Given the description of an element on the screen output the (x, y) to click on. 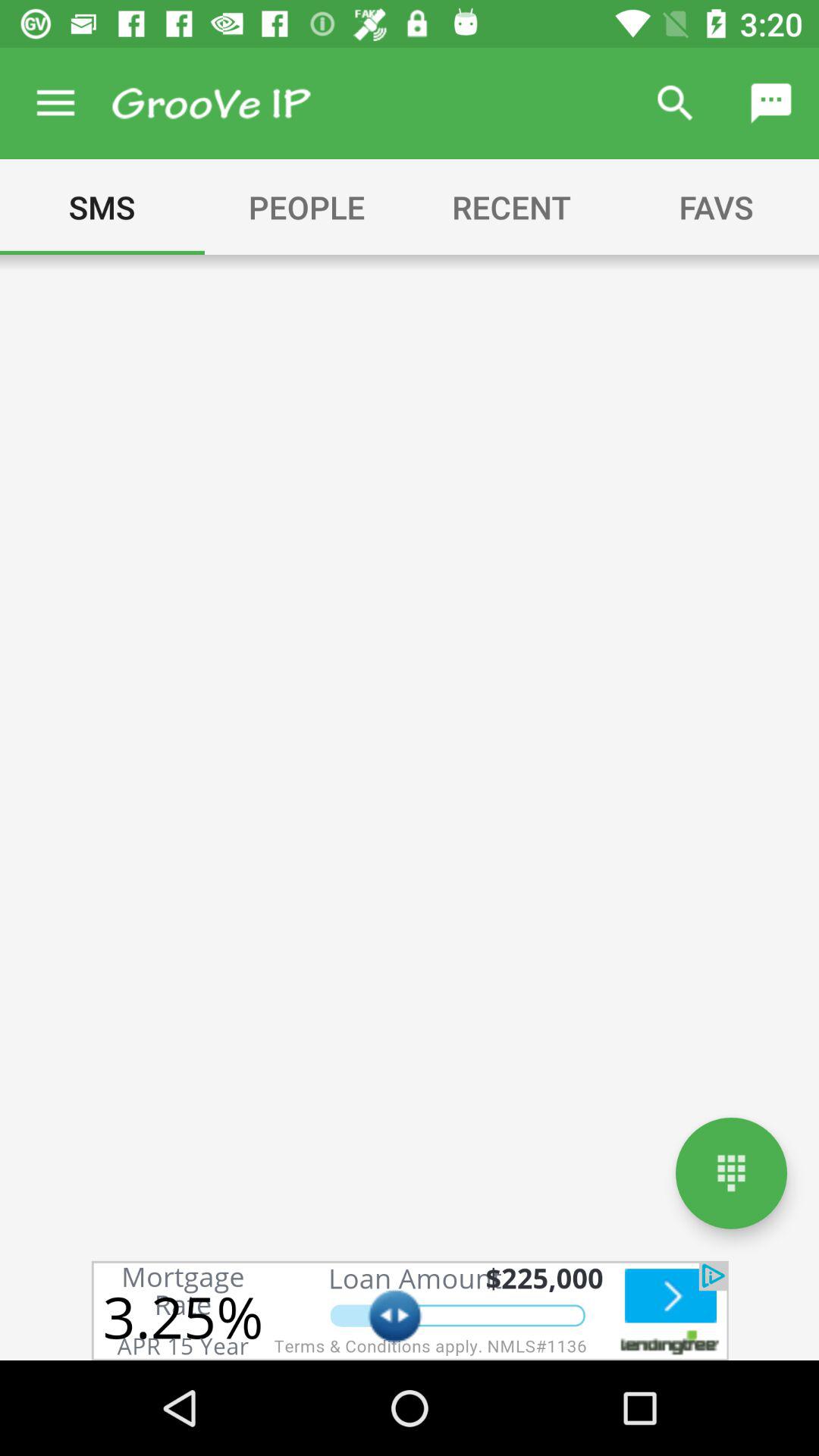
go to app menu (210, 103)
